Given the description of an element on the screen output the (x, y) to click on. 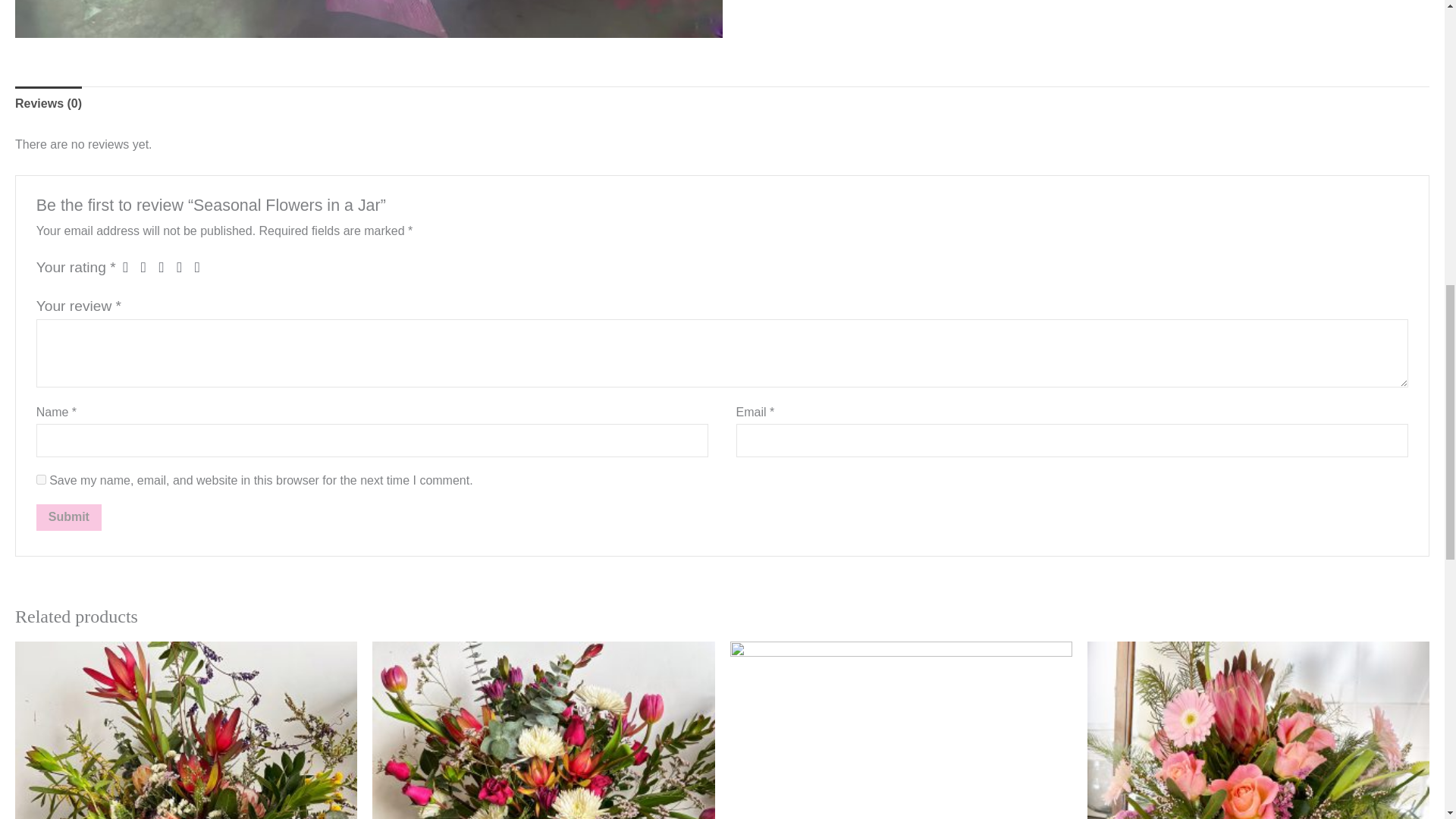
yes (41, 479)
Submit (68, 517)
Seasonal flowers in a jar (368, 19)
